Given the description of an element on the screen output the (x, y) to click on. 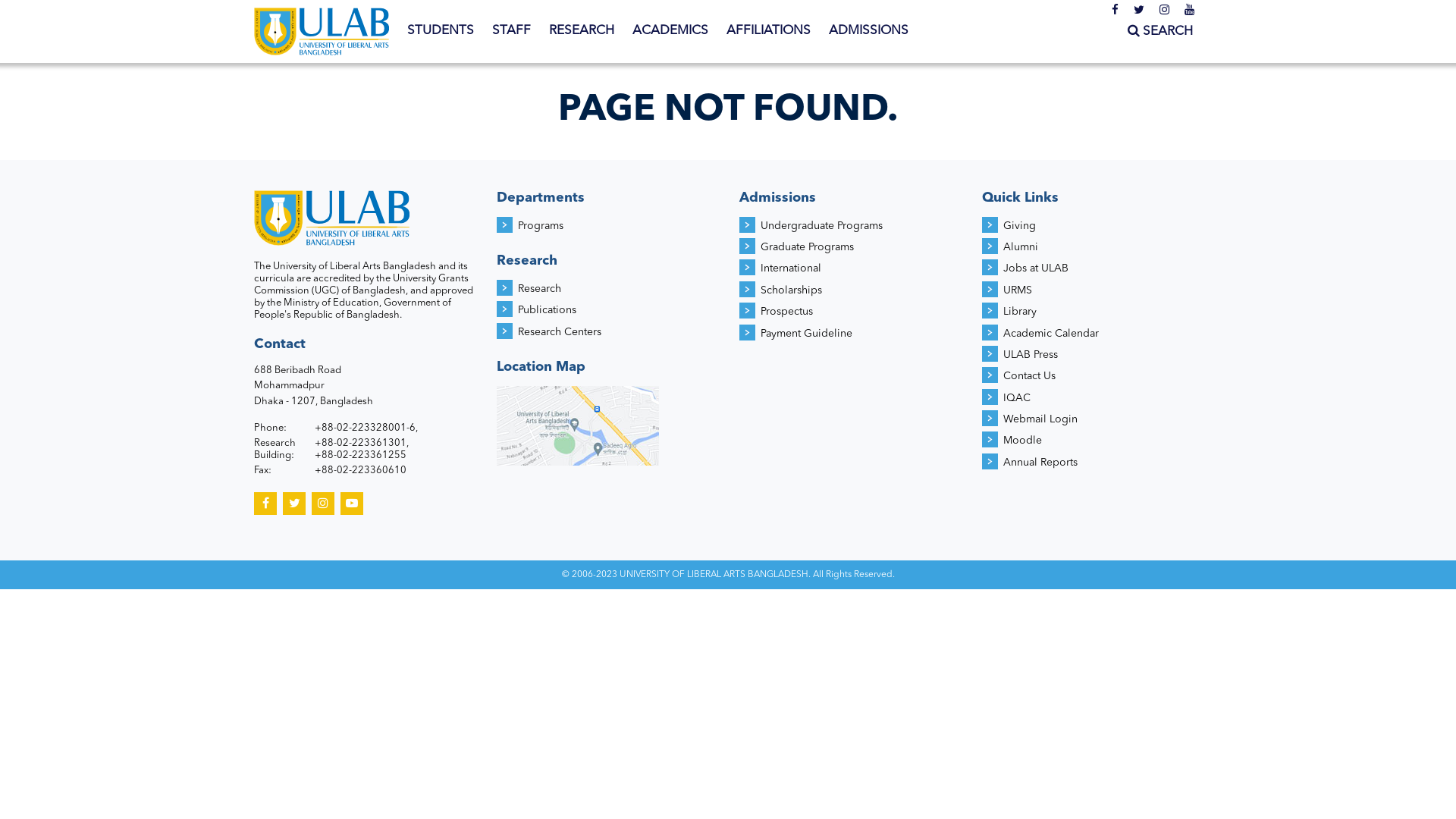
Annual Reports Element type: text (1040, 462)
Moodle Element type: text (1022, 440)
Scholarships Element type: text (791, 290)
Publications Element type: text (546, 309)
Payment Guideline Element type: text (806, 333)
Programs Element type: text (540, 225)
Research Centers Element type: text (559, 331)
Contact Us Element type: text (1029, 375)
International Element type: text (790, 268)
ACADEMICS Element type: text (670, 30)
STAFF Element type: text (511, 30)
ADMISSIONS Element type: text (868, 30)
STUDENTS Element type: text (440, 30)
RESEARCH Element type: text (581, 30)
Academic Calendar Element type: text (1050, 333)
Graduate Programs Element type: text (806, 246)
AFFILIATIONS Element type: text (768, 30)
Skip to main content Element type: text (61, 0)
ULAB Press Element type: text (1030, 354)
Library Element type: text (1019, 311)
URMS Element type: text (1017, 290)
SEARCH Element type: text (1159, 31)
Research Element type: text (539, 288)
Jobs at ULAB Element type: text (1035, 268)
Giving Element type: text (1019, 225)
Alumni Element type: text (1020, 246)
Prospectus Element type: text (786, 311)
IQAC Element type: text (1016, 397)
Webmail Login Element type: text (1040, 419)
Undergraduate Programs Element type: text (821, 225)
